Given the description of an element on the screen output the (x, y) to click on. 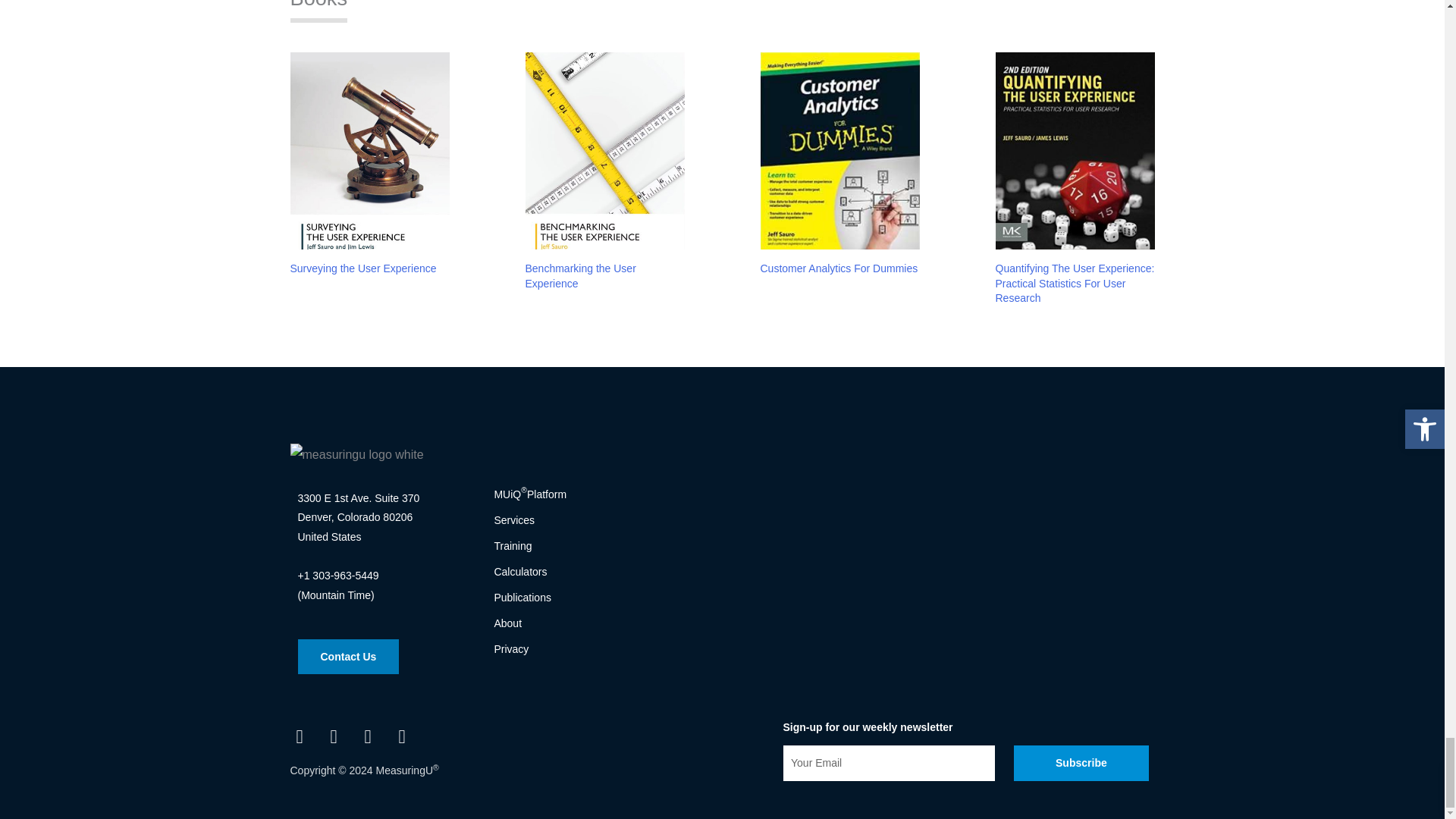
MeasuringU-Logo-White (356, 454)
